Given the description of an element on the screen output the (x, y) to click on. 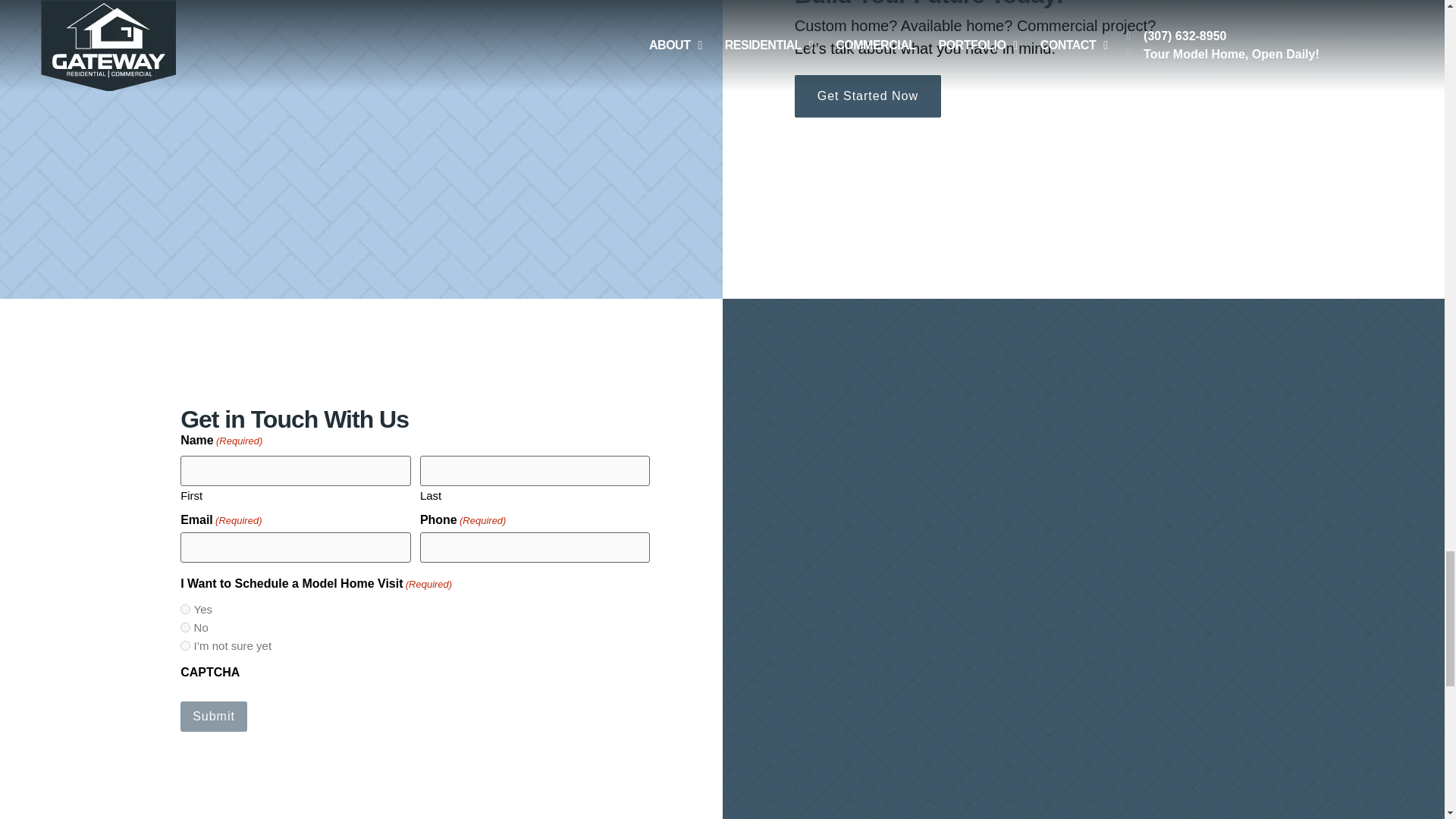
Submit (213, 716)
I'm not sure yet (185, 645)
No (185, 627)
Yes (185, 609)
